Given the description of an element on the screen output the (x, y) to click on. 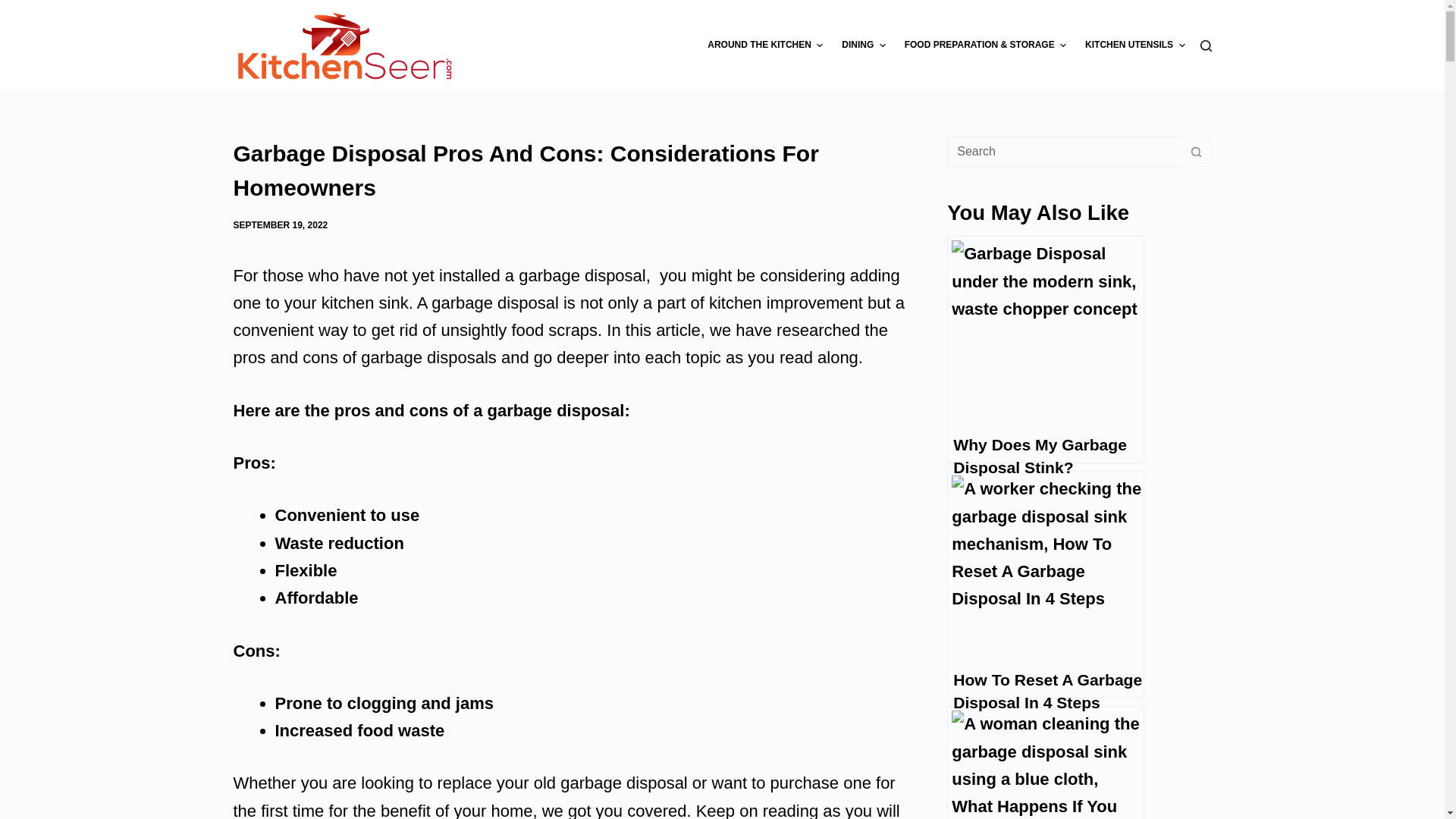
Skip to content (15, 7)
Search for... (1063, 151)
What Happens If You Leave A Garbage Disposal On? (1045, 762)
